Given the description of an element on the screen output the (x, y) to click on. 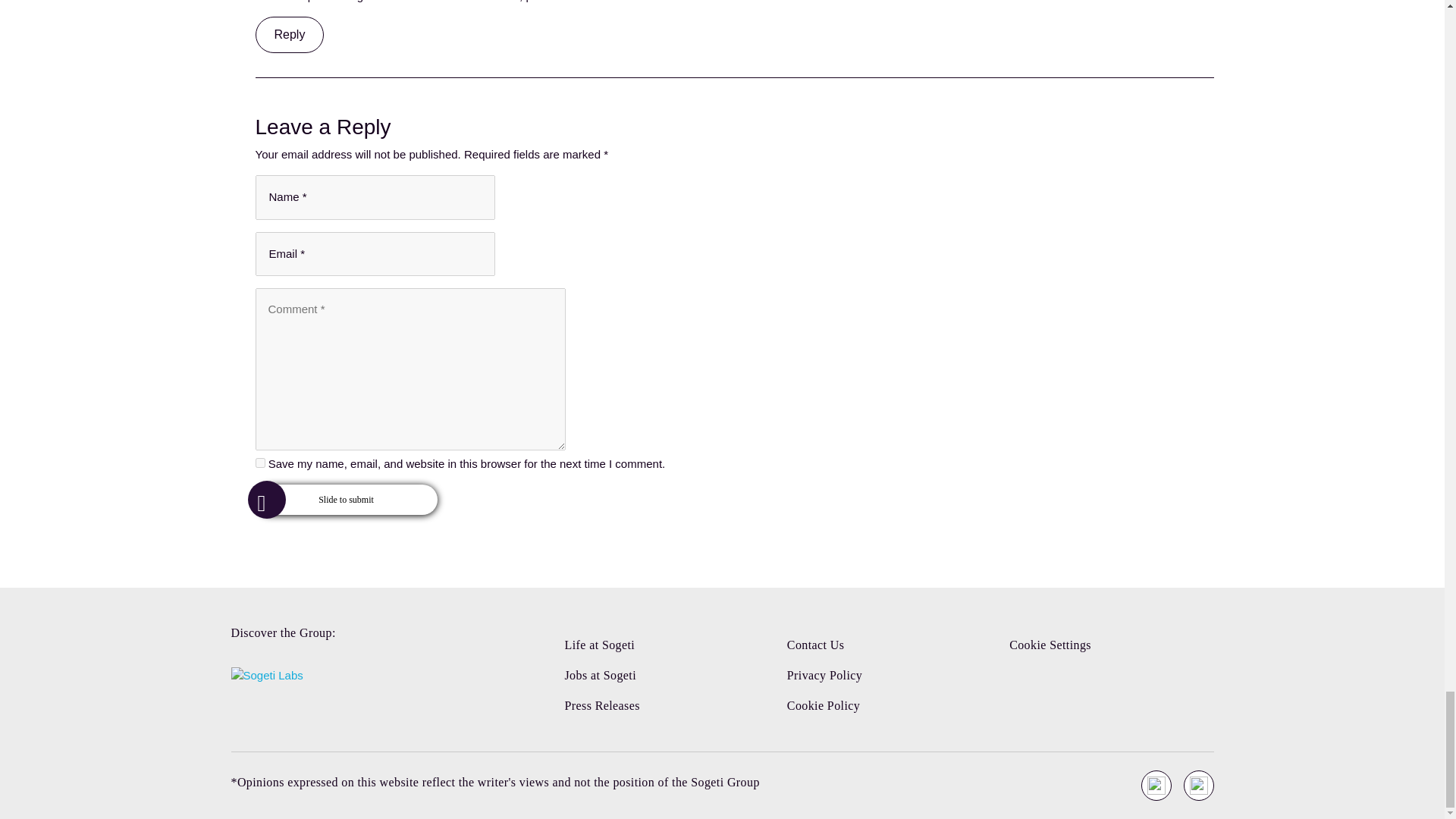
yes (259, 462)
Opens in a new window (1155, 785)
Opens in a new window (1197, 785)
